Given the description of an element on the screen output the (x, y) to click on. 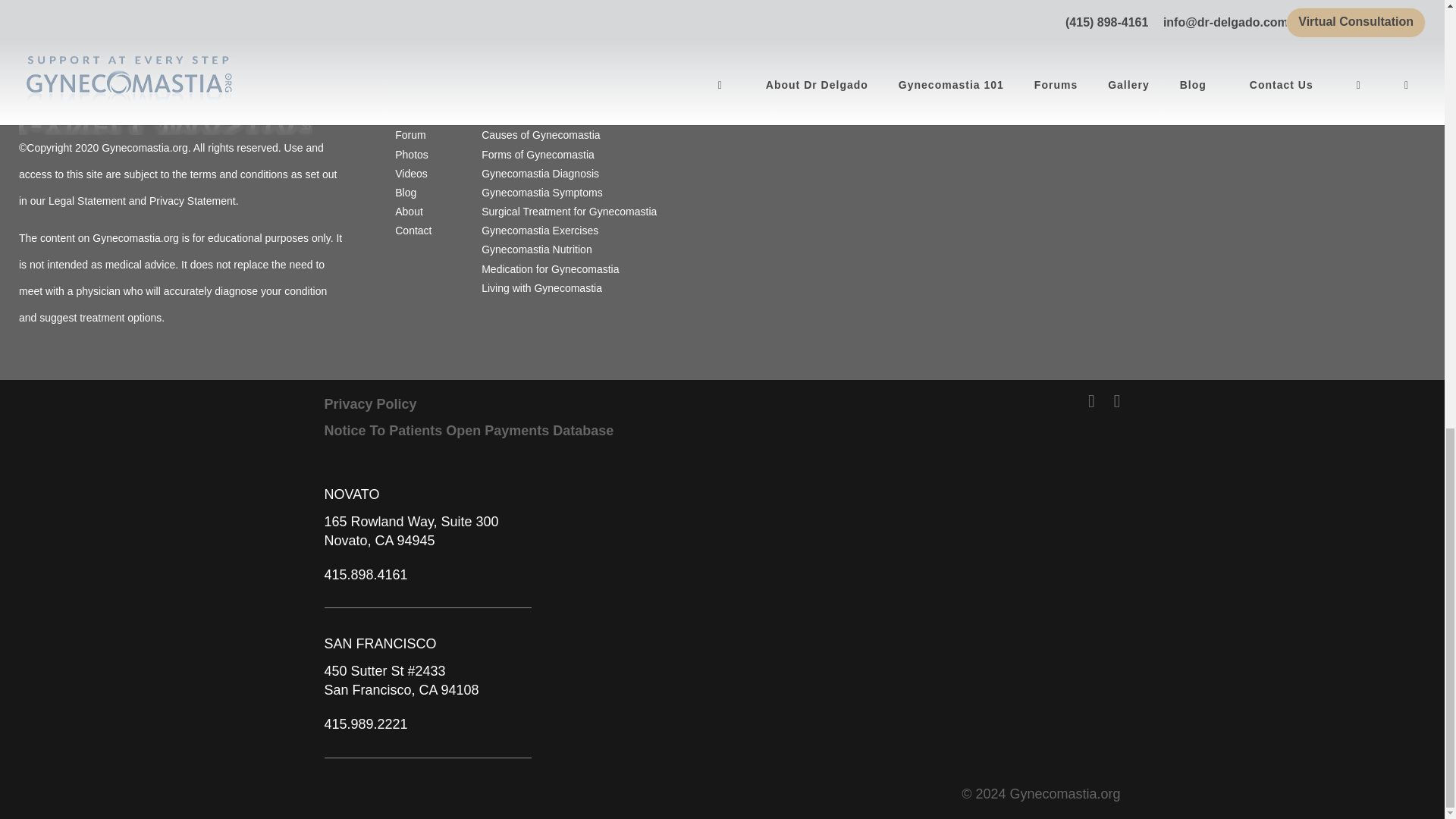
Follow on Facebook (1114, 103)
Follow on Instagram (1144, 103)
